Given the description of an element on the screen output the (x, y) to click on. 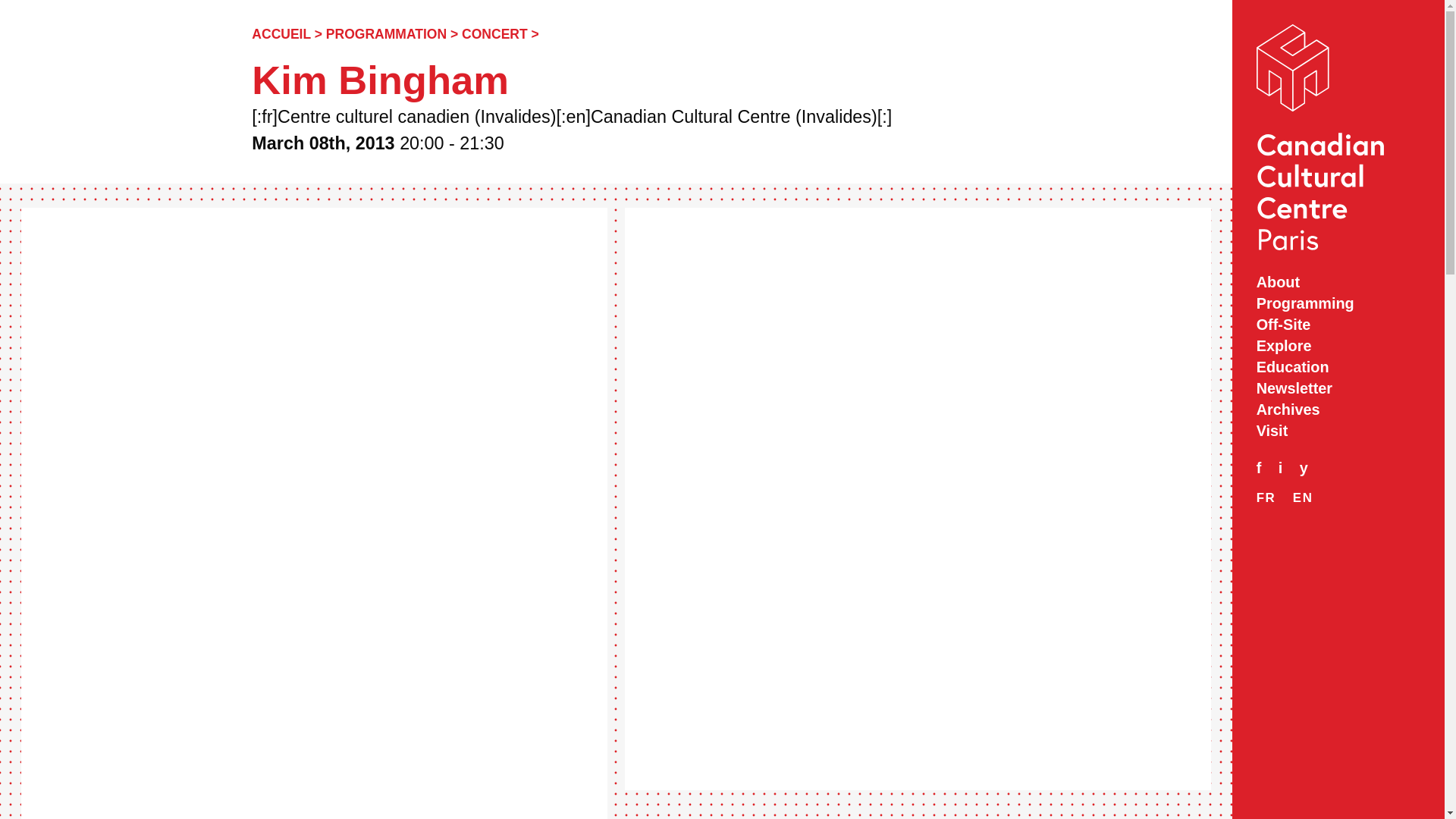
CONCERT (494, 33)
About (1338, 282)
y (1310, 468)
EN (1302, 497)
FR (1266, 497)
Education (1338, 367)
Visit (1338, 430)
ACCUEIL (281, 33)
Programming (1338, 303)
PROGRAMMATION (386, 33)
Explore (1338, 346)
Off-Site (1338, 324)
YouTube (1310, 468)
Newsletter (1338, 388)
Archives (1338, 409)
